Given the description of an element on the screen output the (x, y) to click on. 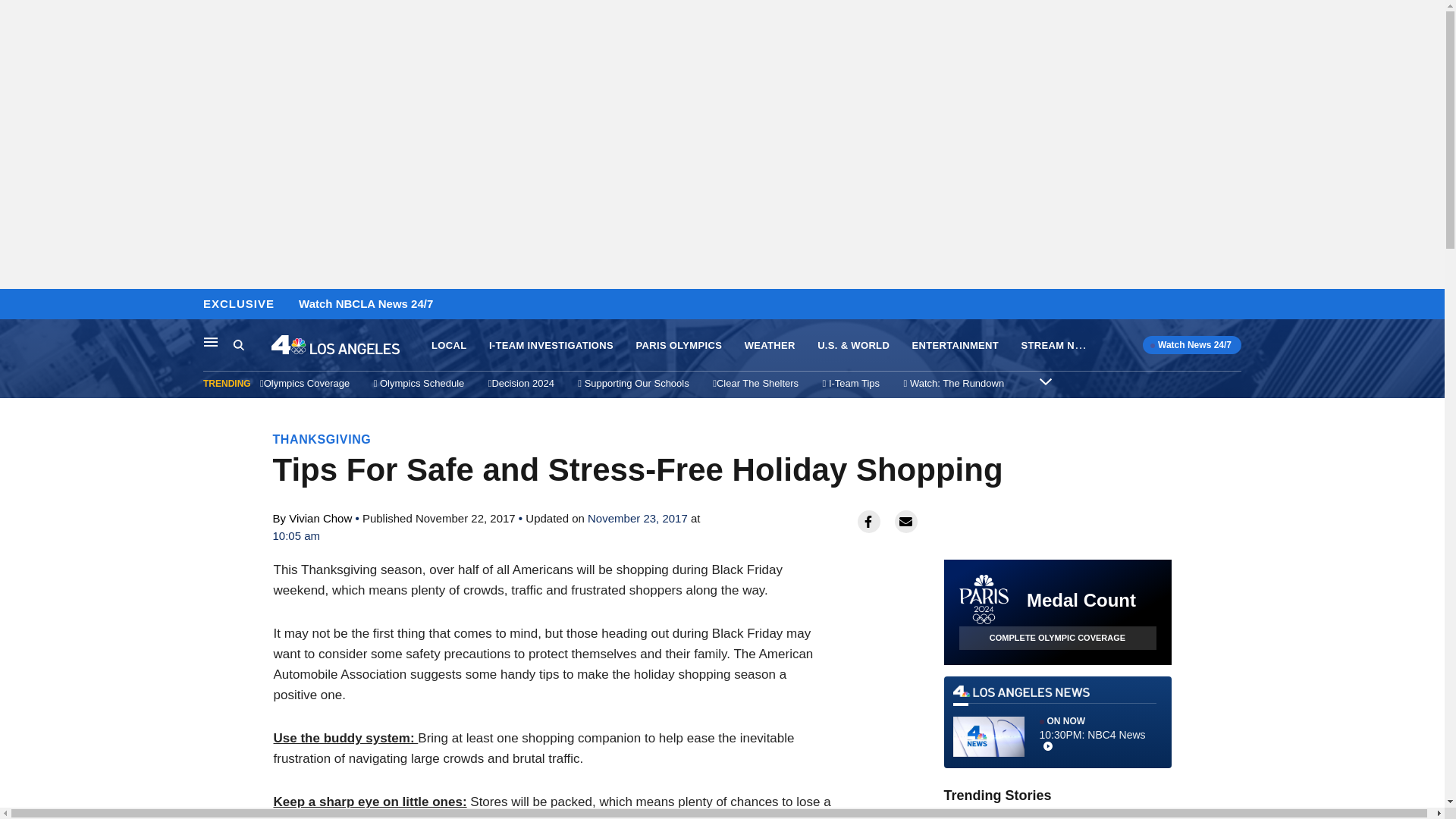
WEATHER (769, 345)
LOCAL (447, 345)
PARIS OLYMPICS (678, 345)
THANKSGIVING (322, 439)
I-TEAM INVESTIGATIONS (550, 345)
Search (1056, 722)
Expand (252, 345)
COMPLETE OLYMPIC COVERAGE (1045, 381)
HUNTINGTON BEACH (1057, 638)
Main Navigation (1066, 816)
Skip to content (210, 341)
ENTERTAINMENT (16, 304)
Search (955, 345)
